Given the description of an element on the screen output the (x, y) to click on. 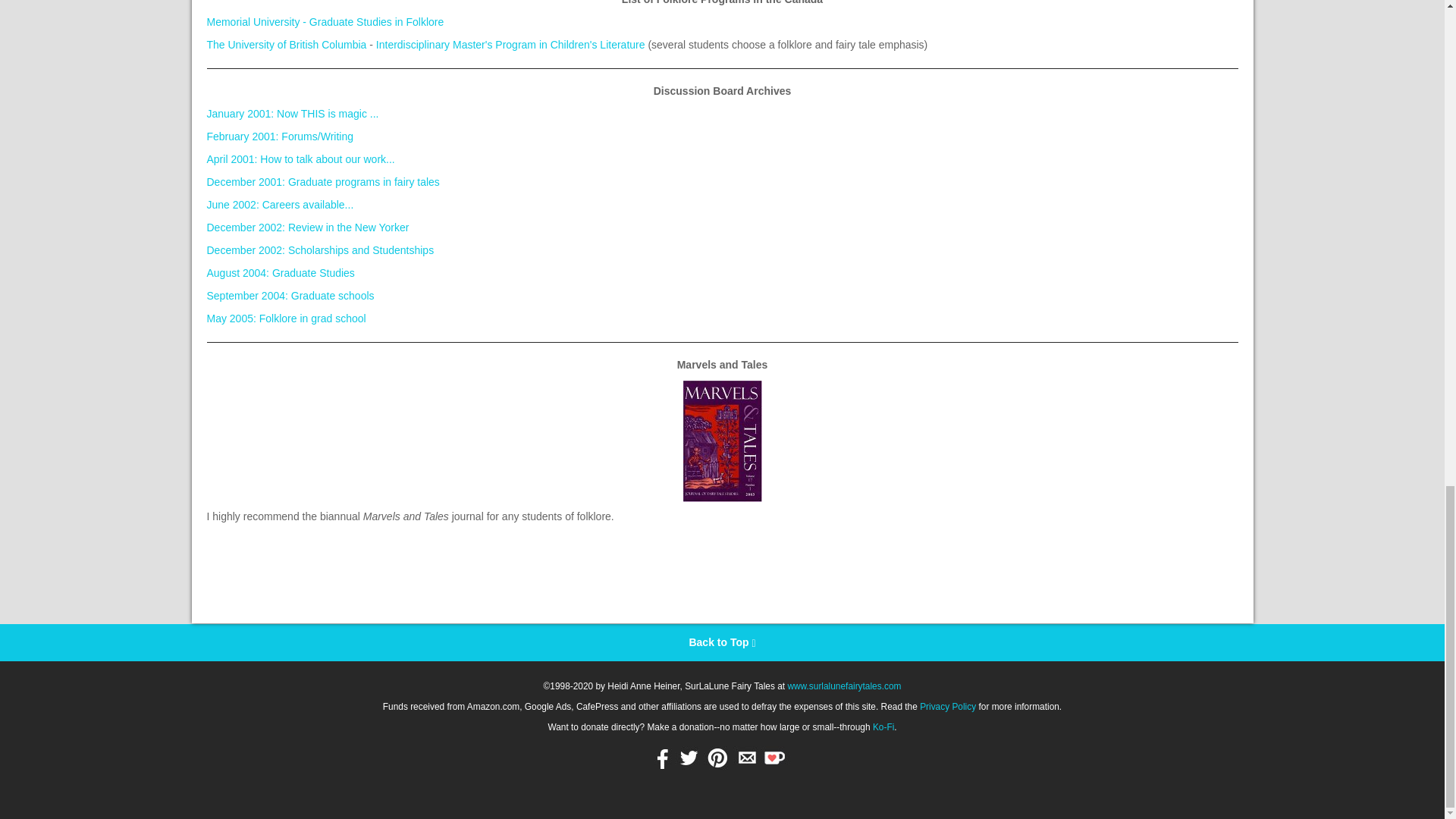
April 2001: How to talk about our work... (300, 159)
December 2001: Graduate programs in fairy tales (322, 182)
The University of British Columbia (286, 44)
Interdisciplinary Master's Program in Children's Literature (510, 44)
January 2001: Now THIS is magic ... (292, 113)
June 2002: Careers available... (279, 204)
Memorial University - Graduate Studies in Folklore (325, 21)
